Given the description of an element on the screen output the (x, y) to click on. 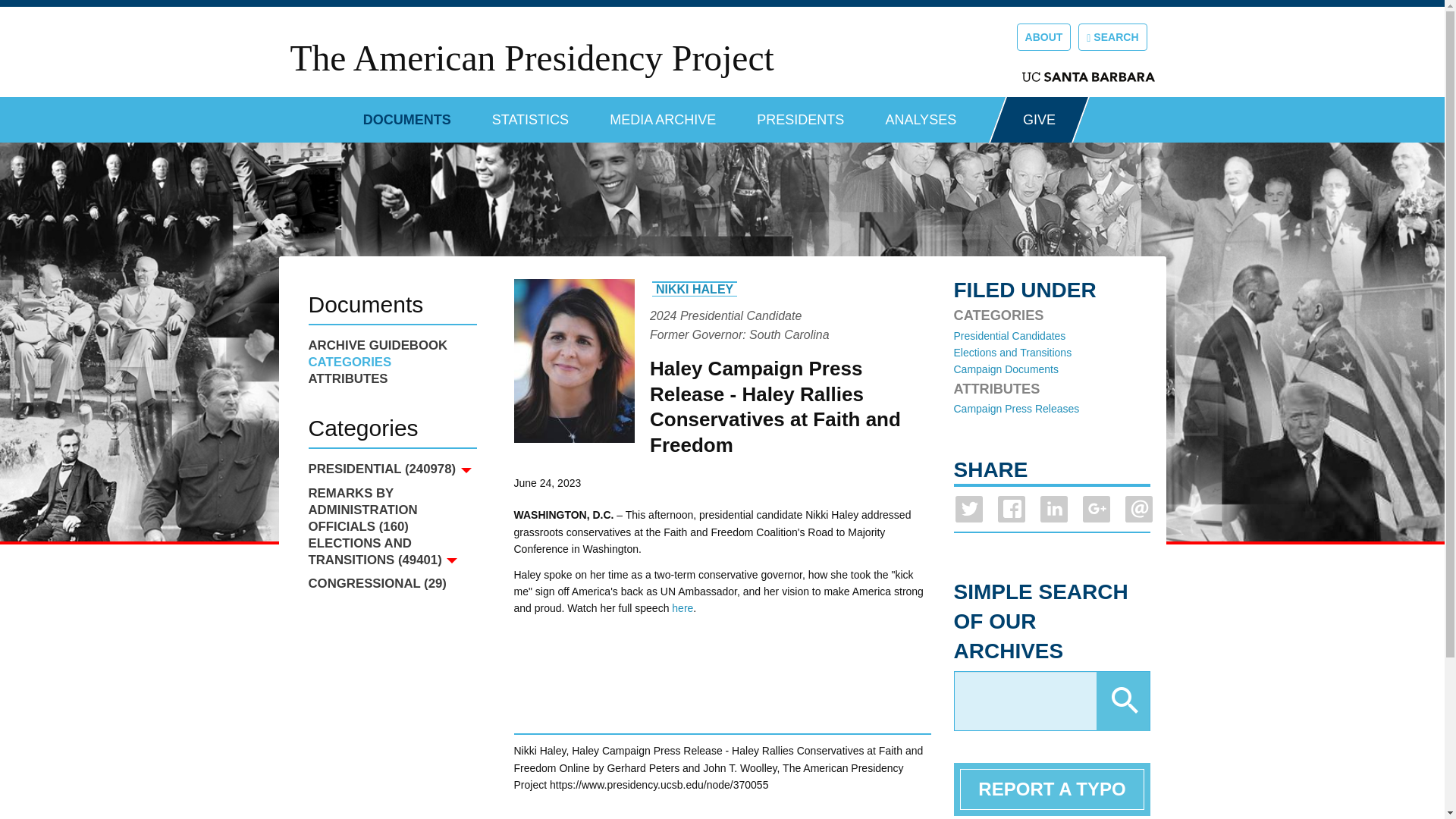
ABOUT (1043, 36)
NIKKI HALEY (694, 287)
The American Presidency Project (531, 57)
 SEARCH (1112, 36)
PRESIDENTS (800, 113)
ANALYSES (920, 113)
Presidential Candidates (1009, 336)
Campaign Documents (1006, 369)
Elections and Transitions (1012, 352)
here (682, 607)
CATEGORIES (391, 362)
MEDIA ARCHIVE (663, 113)
REPORT A TYPO (1051, 789)
STATISTICS (530, 113)
